Given the description of an element on the screen output the (x, y) to click on. 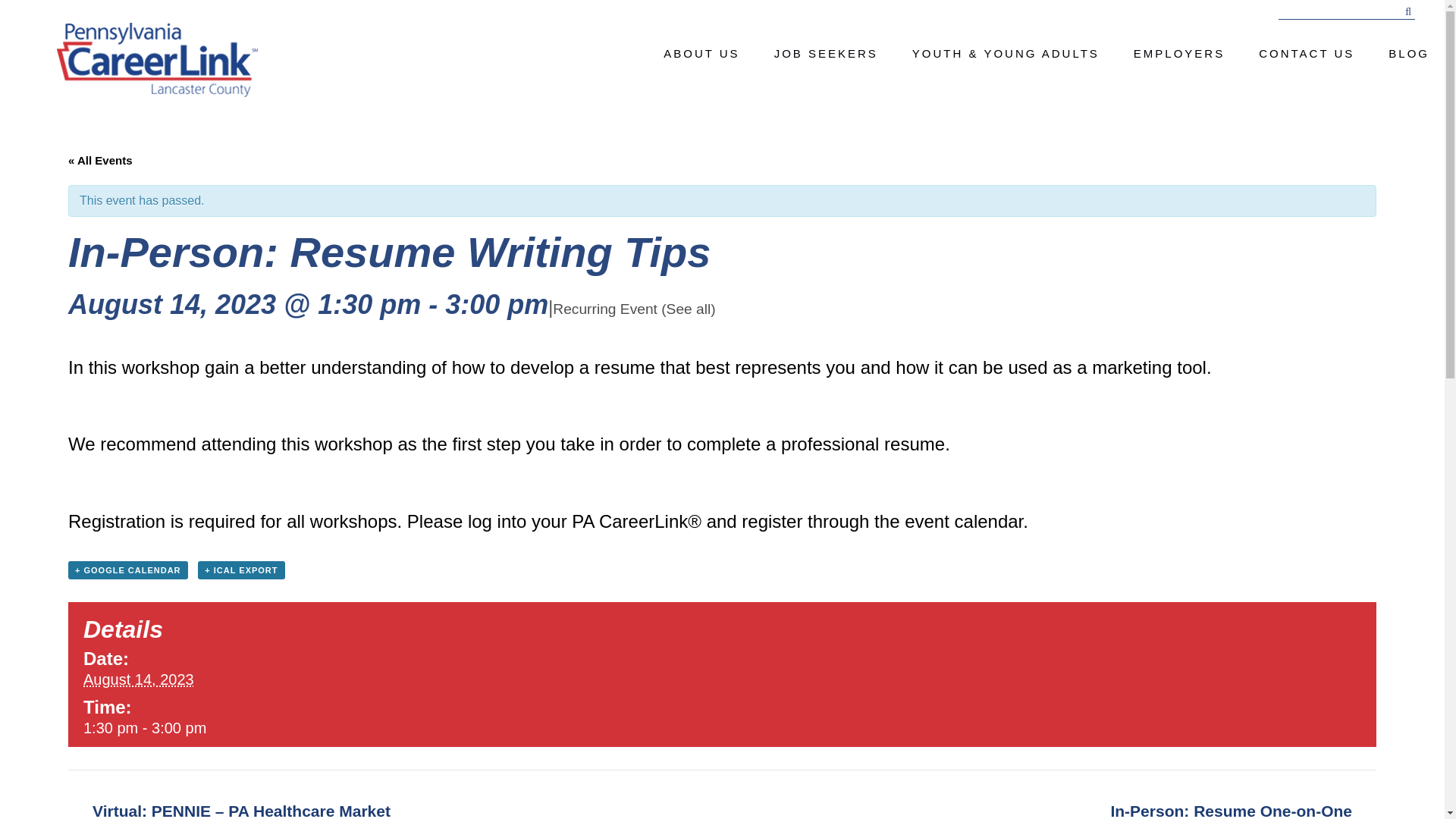
Search for: (1346, 12)
ABOUT US (701, 53)
JOB SEEKERS (825, 53)
In-Person: Resume One-on-One (1230, 810)
2023-08-14 (285, 727)
BLOG (1409, 53)
CONTACT US (1306, 53)
Download .ics file (240, 570)
Add to Google Calendar (127, 570)
2023-08-14 (137, 678)
event calendar (963, 521)
EMPLOYERS (1179, 53)
